Given the description of an element on the screen output the (x, y) to click on. 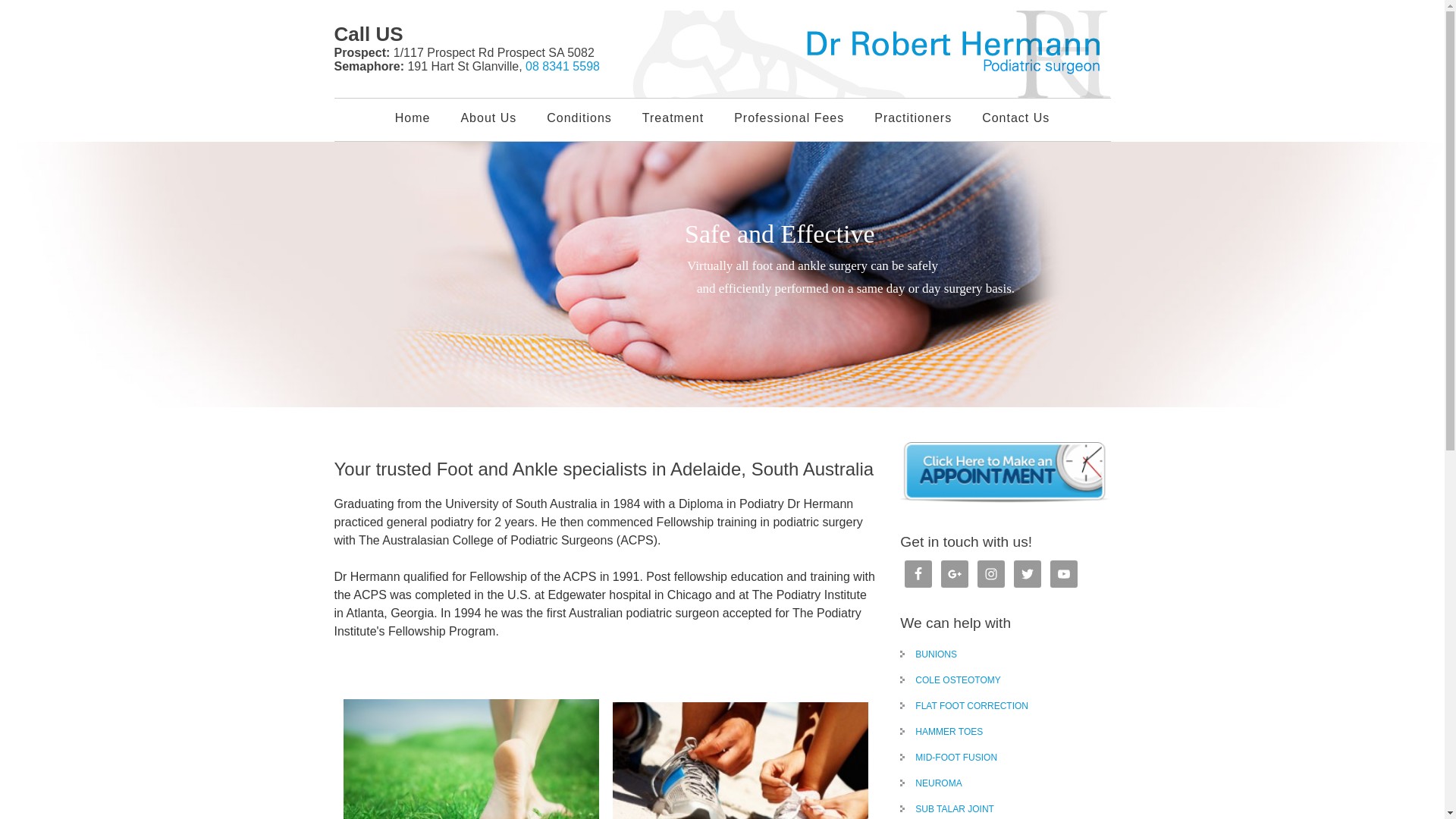
NEUROMA Element type: text (930, 783)
Professional Fees Element type: text (788, 118)
Conditions Element type: text (579, 118)
FLAT FOOT CORRECTION Element type: text (964, 705)
BUNIONS Element type: text (928, 654)
Foot and Ankle Surgicentre Element type: text (869, 53)
Home Element type: text (412, 118)
Skip to content Element type: text (0, 0)
Book Now Element type: text (1327, 384)
Treatment Element type: text (672, 118)
HAMMER TOES Element type: text (941, 731)
Contact Us Element type: text (1015, 118)
MID-FOOT FUSION Element type: text (948, 757)
About Us Element type: text (488, 118)
08 8341 5598 Element type: text (562, 65)
Practitioners Element type: text (912, 118)
COLE OSTEOTOMY Element type: text (950, 680)
